Given the description of an element on the screen output the (x, y) to click on. 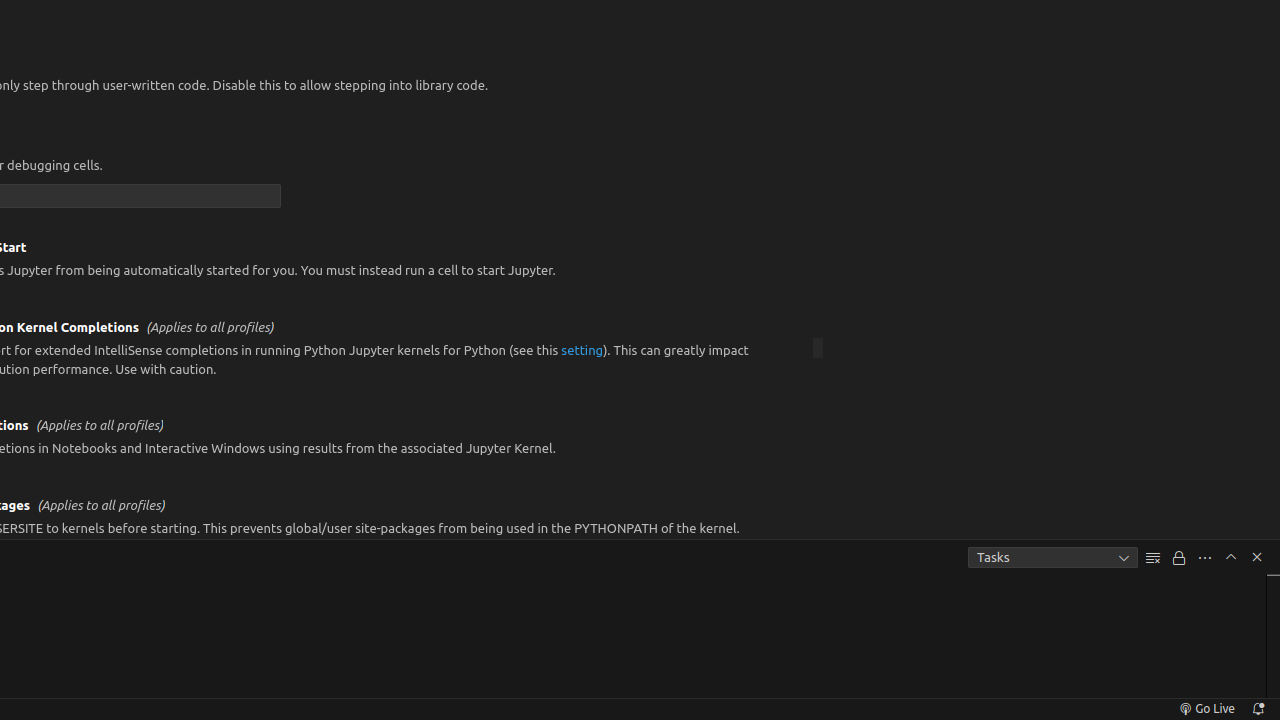
Maximize Panel Size Element type: check-box (1231, 557)
setting Element type: link (582, 350)
broadcast Go Live, Click to run live server Element type: push-button (1206, 709)
Tasks Element type: menu-item (1053, 557)
